Given the description of an element on the screen output the (x, y) to click on. 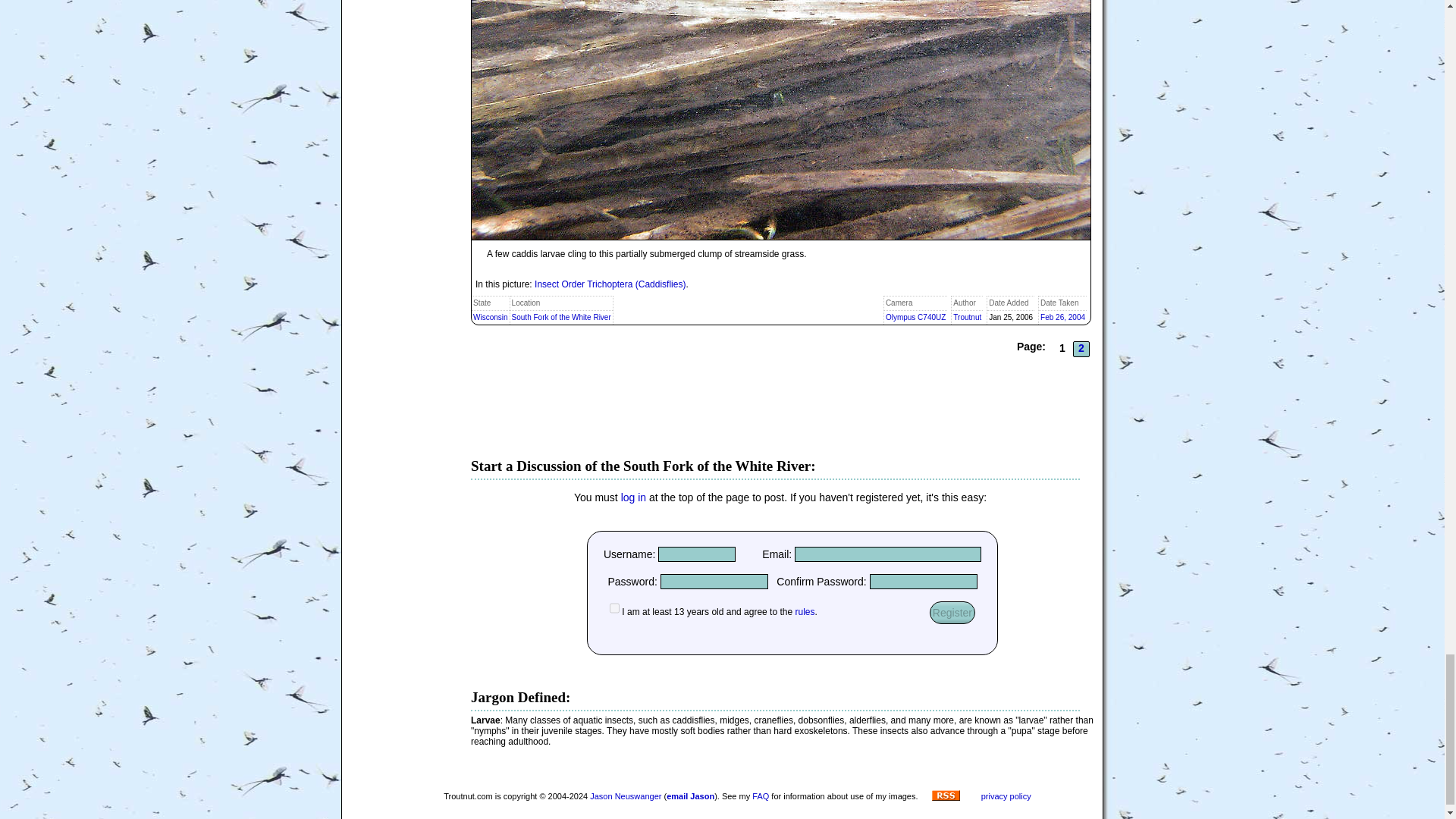
Register (952, 612)
